Given the description of an element on the screen output the (x, y) to click on. 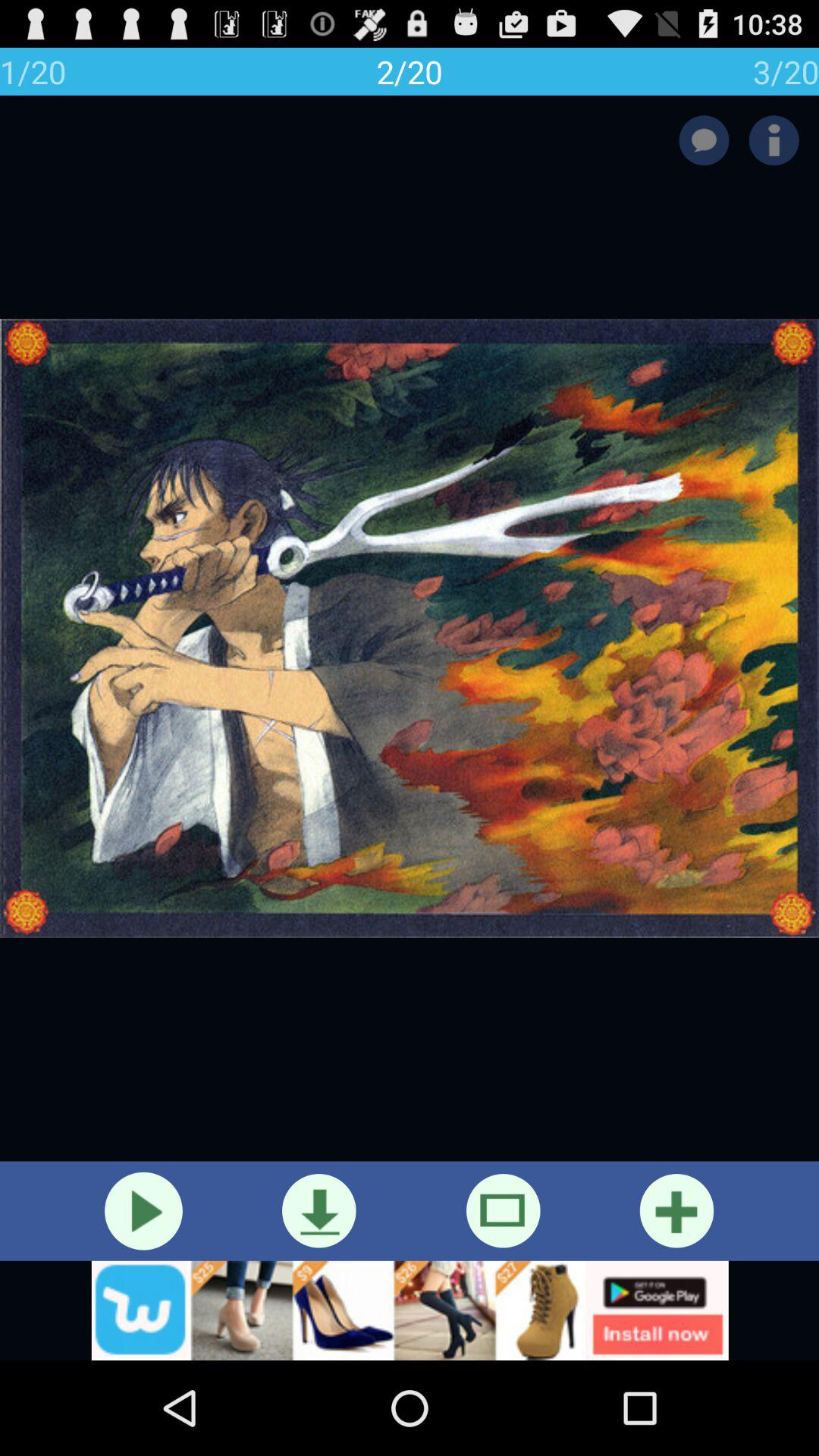
download photo (319, 1210)
